Given the description of an element on the screen output the (x, y) to click on. 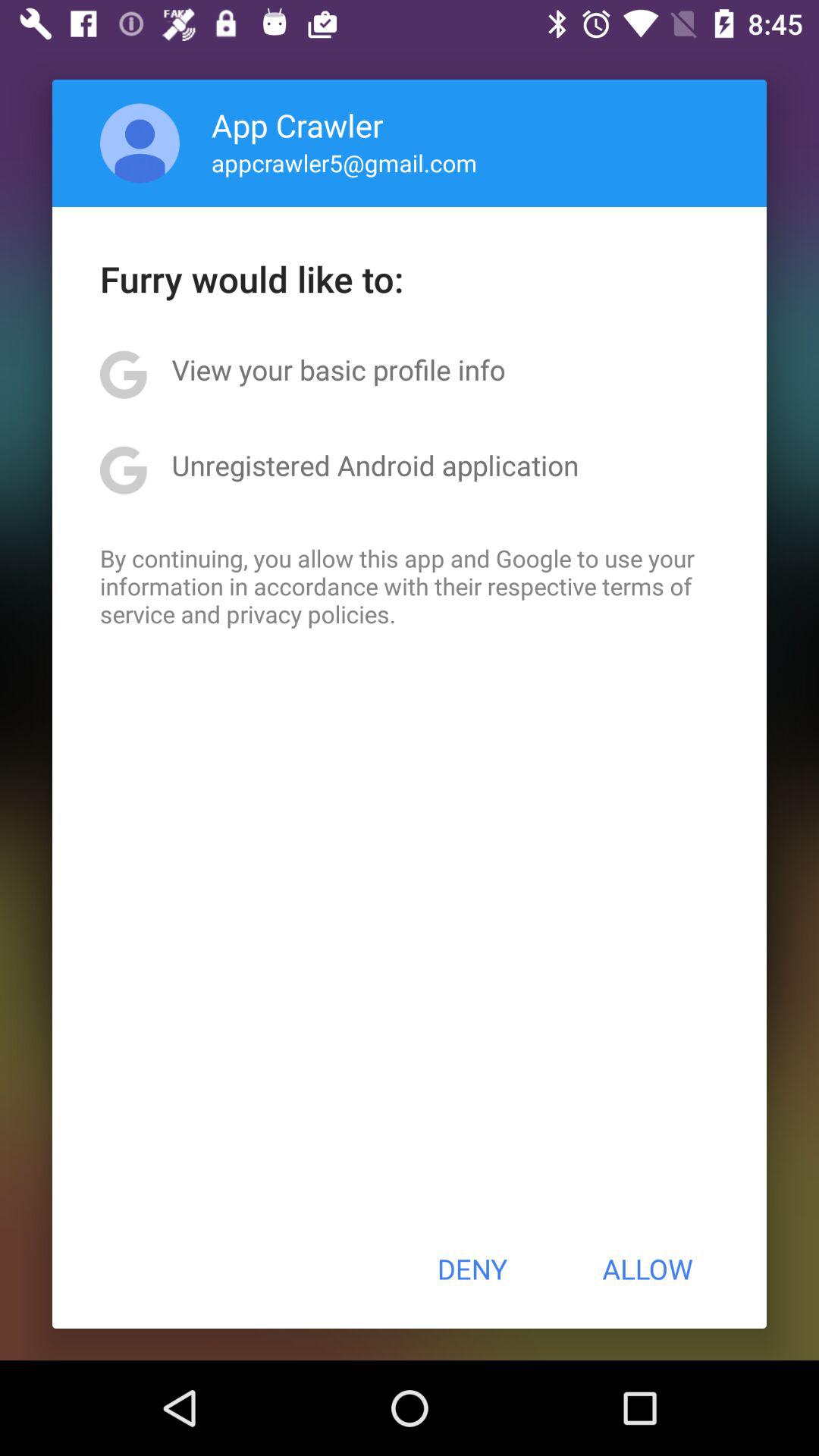
flip until the view your basic (338, 369)
